Given the description of an element on the screen output the (x, y) to click on. 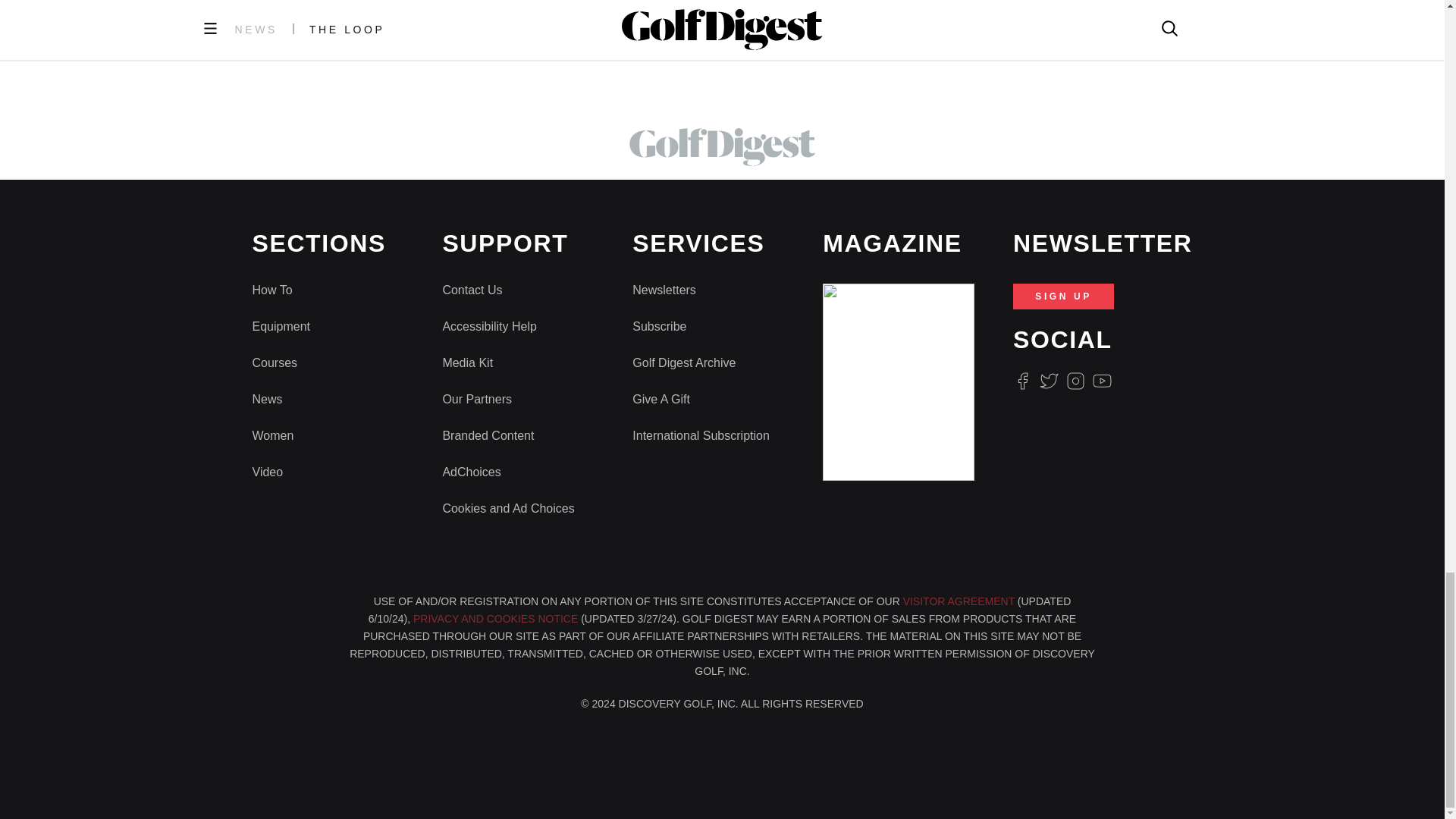
Twitter Logo (1048, 380)
Youtube Icon (1102, 380)
Facebook Logo (1022, 380)
Instagram Logo (1074, 380)
